Given the description of an element on the screen output the (x, y) to click on. 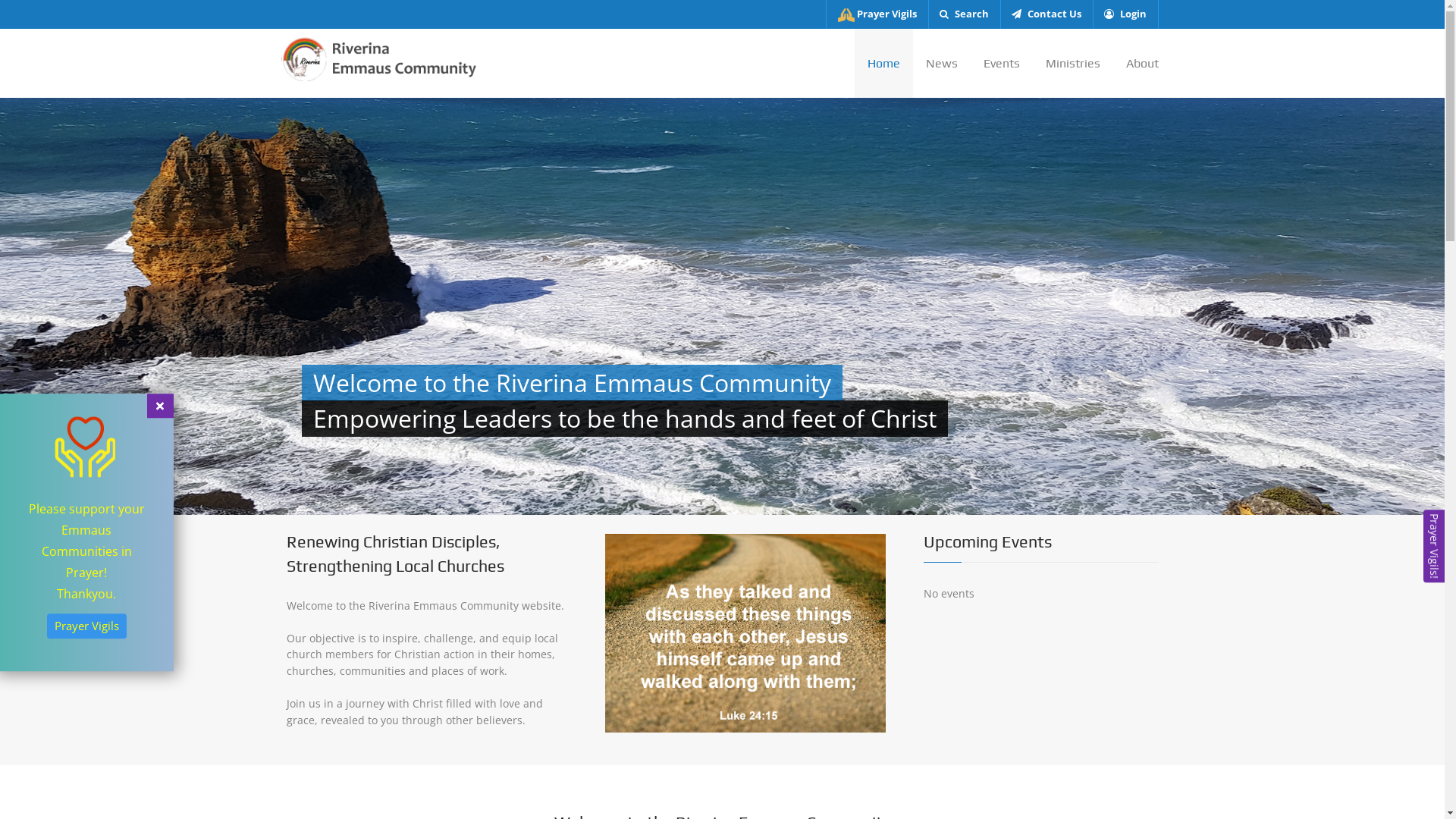
Riverina Emmaus Community Element type: hover (380, 57)
Login Element type: text (1124, 14)
Search Element type: text (964, 14)
Login - Registered Users Element type: text (1027, 681)
Australian Emmaus Communities Element type: text (1027, 571)
Contact the National webmaster Element type: hover (1111, 782)
Ministries Element type: text (1072, 62)
Emmaus Ministries Australia Element type: text (367, 592)
Prayer Vigils Element type: text (1027, 549)
Daily Reflections Element type: text (1027, 593)
Prayer Vigils Element type: text (86, 625)
Events Element type: text (1001, 62)
About Element type: text (1135, 62)
Terms & Conditions Element type: text (1027, 659)
Contact Us Element type: text (1027, 615)
Prayer Vigils Element type: text (877, 14)
Login - Registered Users Element type: hover (1144, 782)
Privacy Policy Element type: text (1027, 637)
News Element type: text (941, 62)
Home Element type: text (882, 62)
Contact Us Element type: text (1045, 14)
General Enquiry Element type: text (336, 570)
